Given the description of an element on the screen output the (x, y) to click on. 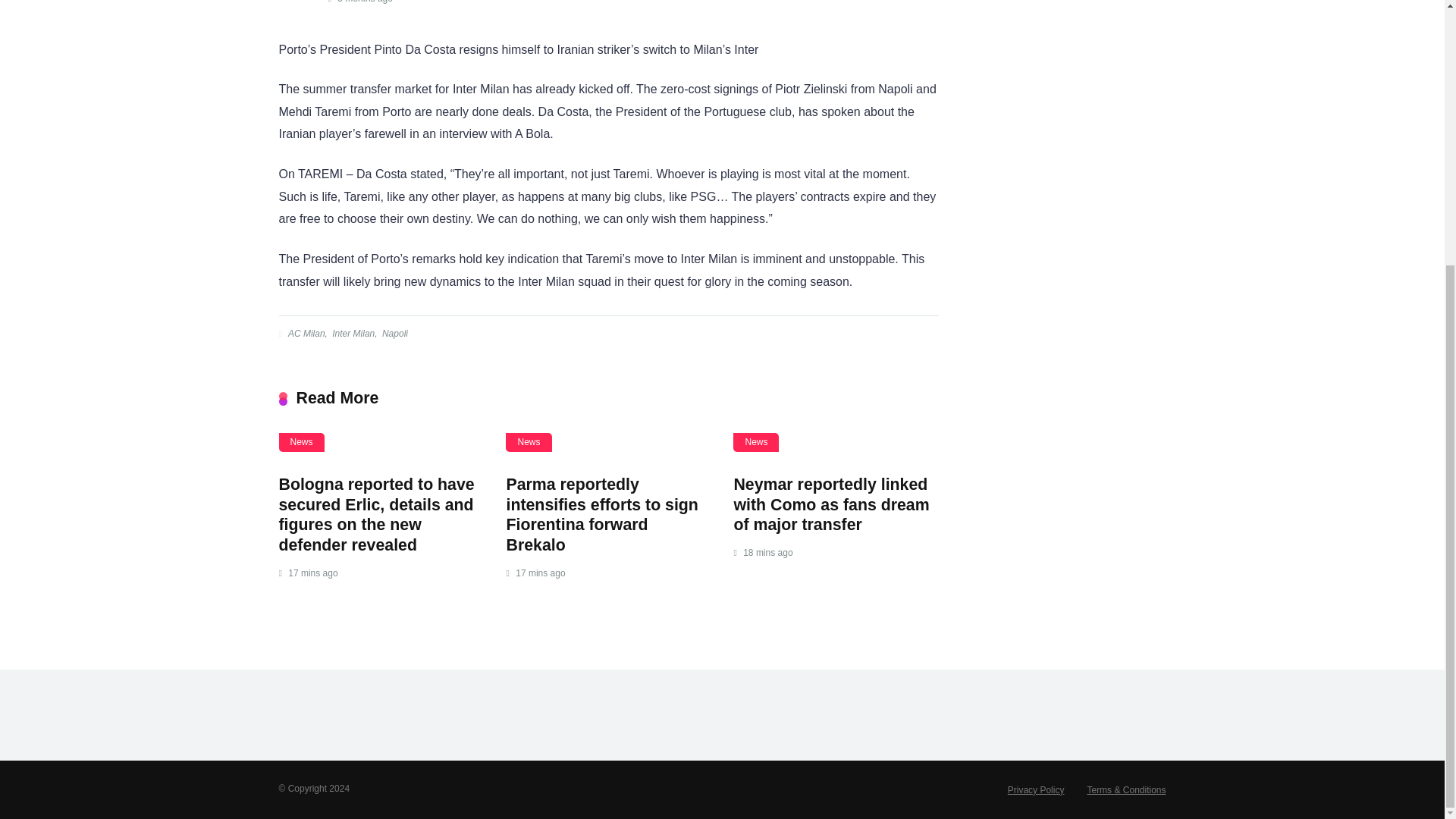
Privacy Policy (1035, 789)
News (301, 442)
Inter Milan (352, 333)
AC Milan (304, 333)
News (755, 442)
Napoli (393, 333)
News (528, 442)
